Given the description of an element on the screen output the (x, y) to click on. 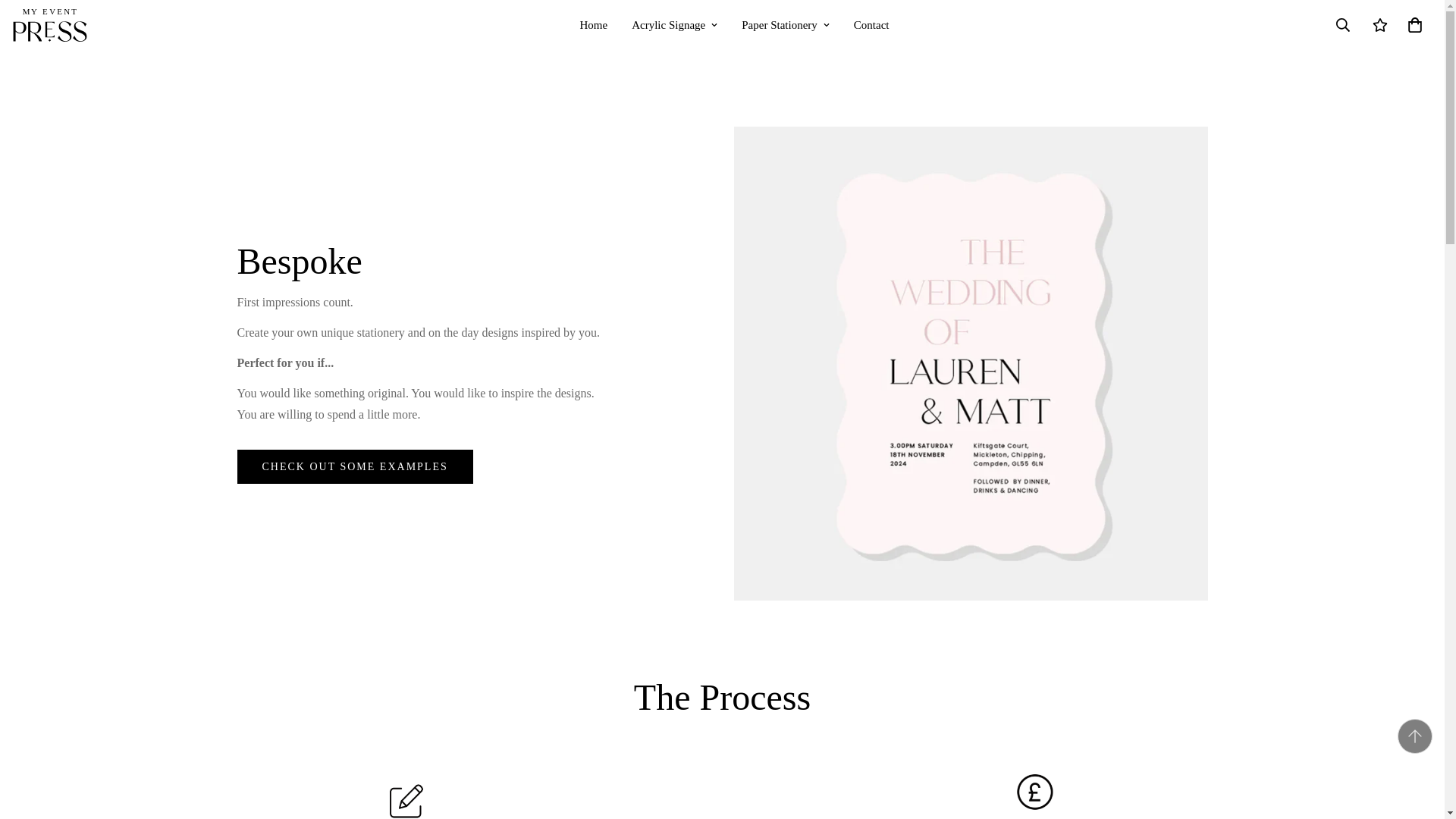
Acrylic Signage (674, 25)
My Event Press (49, 25)
Home (733, 25)
